Given the description of an element on the screen output the (x, y) to click on. 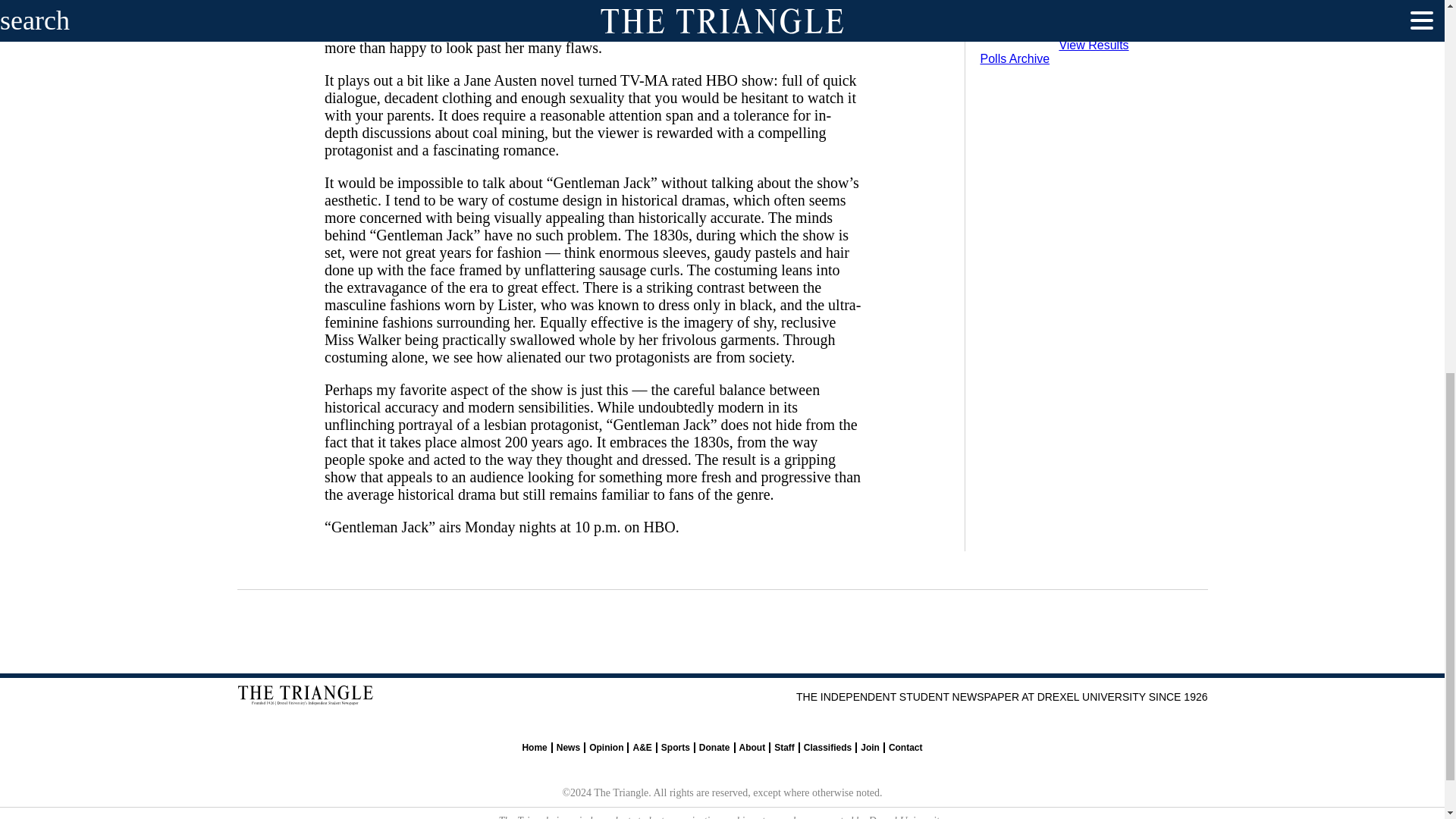
About (751, 747)
Donate (714, 747)
View Results Of This Poll (1093, 44)
Opinion (606, 747)
Staff (784, 747)
Polls Archive (1014, 58)
View Results (1093, 44)
Vote (1161, 25)
Home (534, 747)
Classifieds (827, 747)
